Given the description of an element on the screen output the (x, y) to click on. 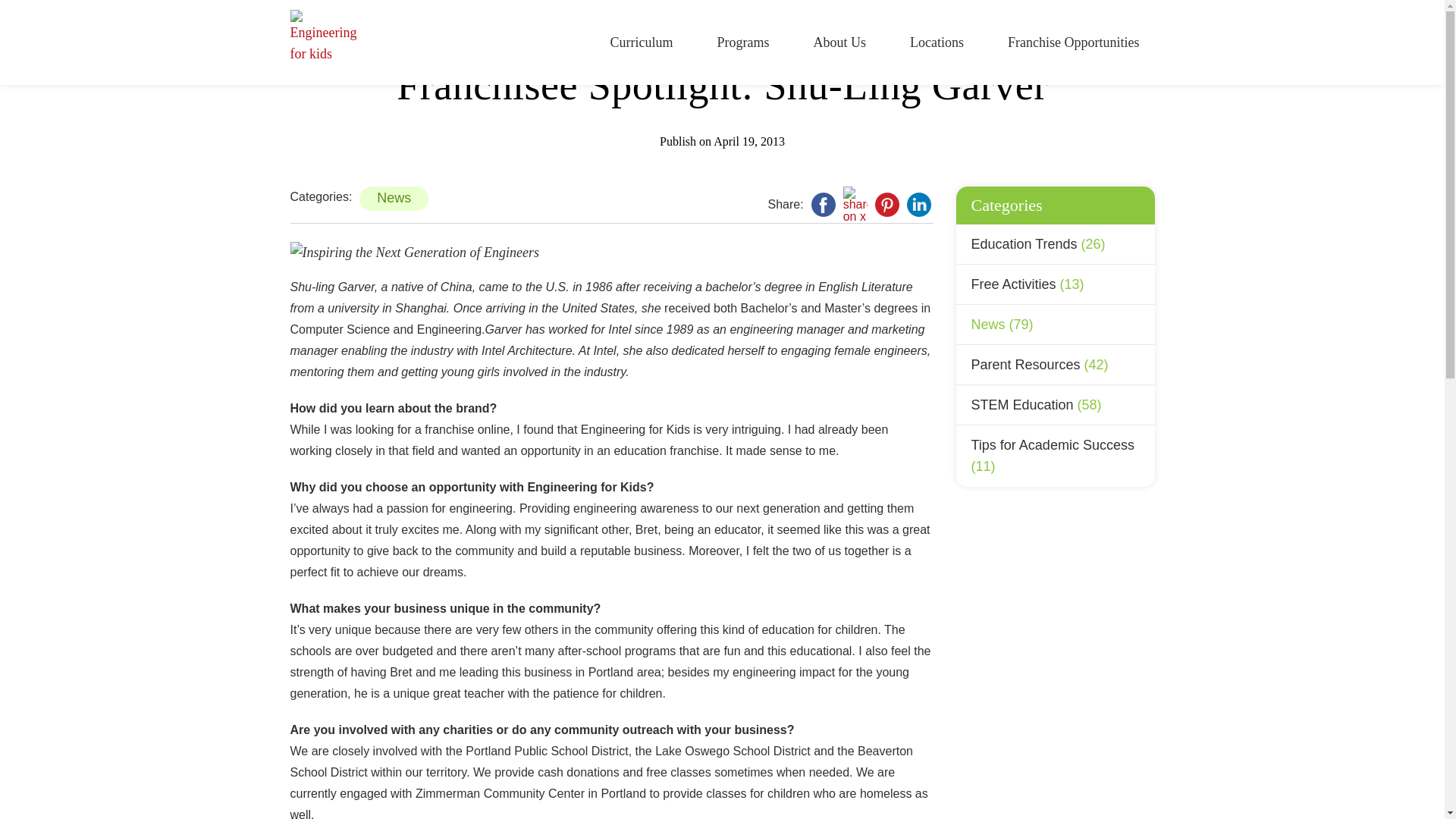
Franchise Opportunities (1072, 42)
Locations (936, 42)
About Us (839, 42)
Programs (743, 42)
Curriculum (641, 42)
Curriculum (641, 42)
Programs (743, 42)
Engineering For Kids (322, 42)
